Given the description of an element on the screen output the (x, y) to click on. 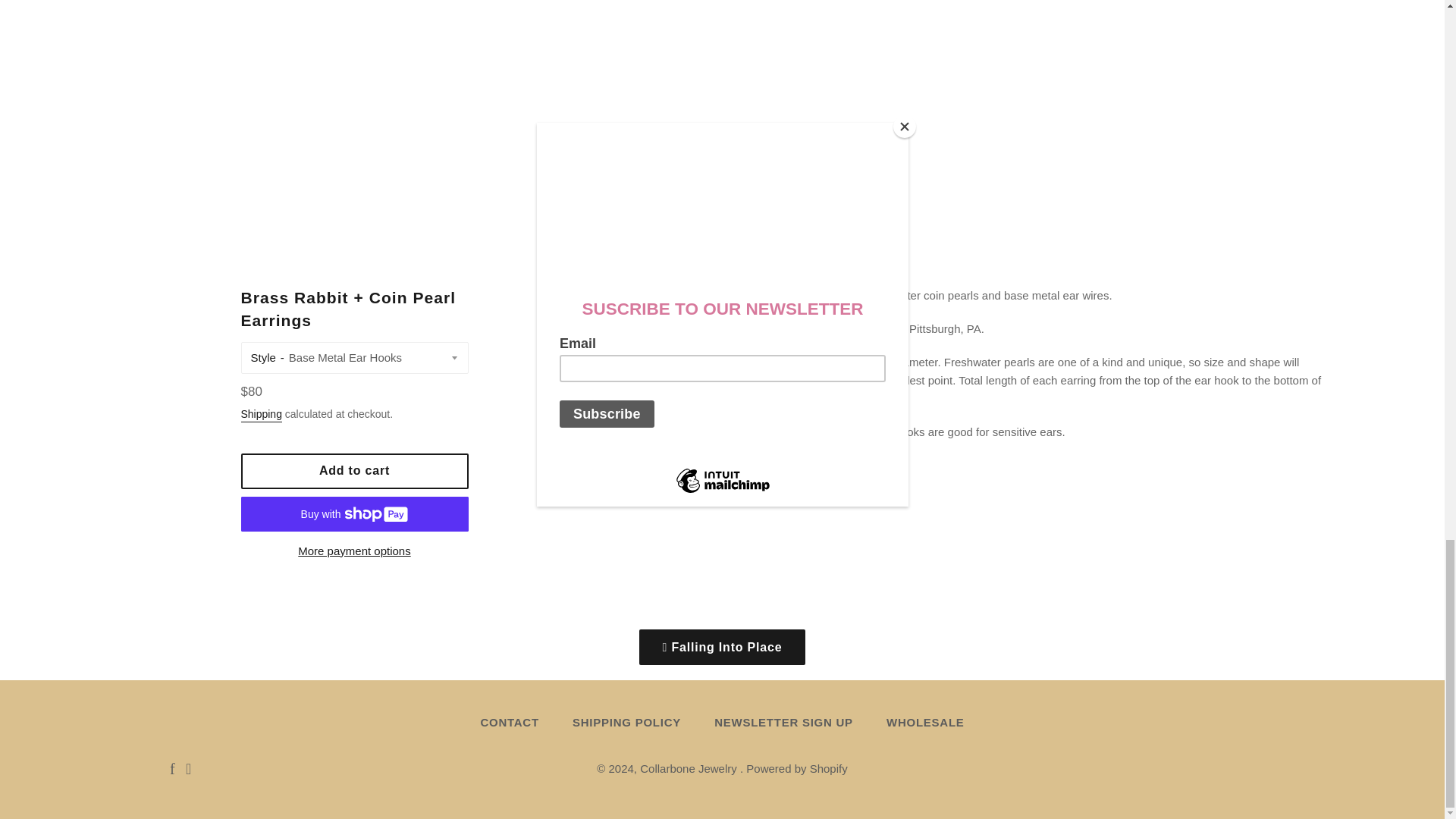
Add to cart (354, 470)
Falling Into Place (722, 647)
Collarbone Jewelry (689, 768)
More payment options (354, 551)
NEWSLETTER SIGN UP (782, 721)
Shipping (261, 414)
WHOLESALE (924, 721)
CONTACT (508, 721)
SHIPPING POLICY (626, 721)
